Given the description of an element on the screen output the (x, y) to click on. 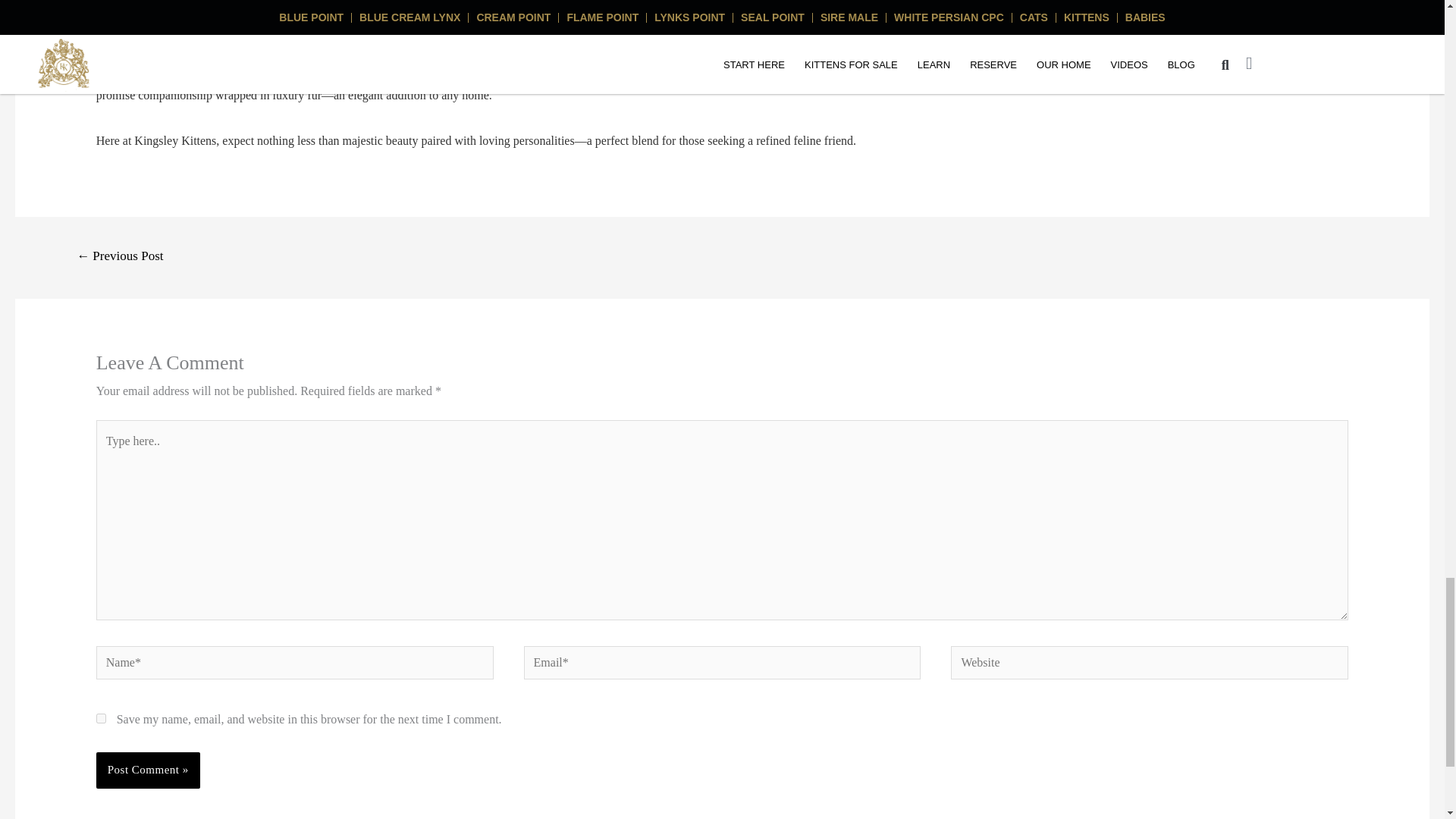
yes (101, 718)
